Given the description of an element on the screen output the (x, y) to click on. 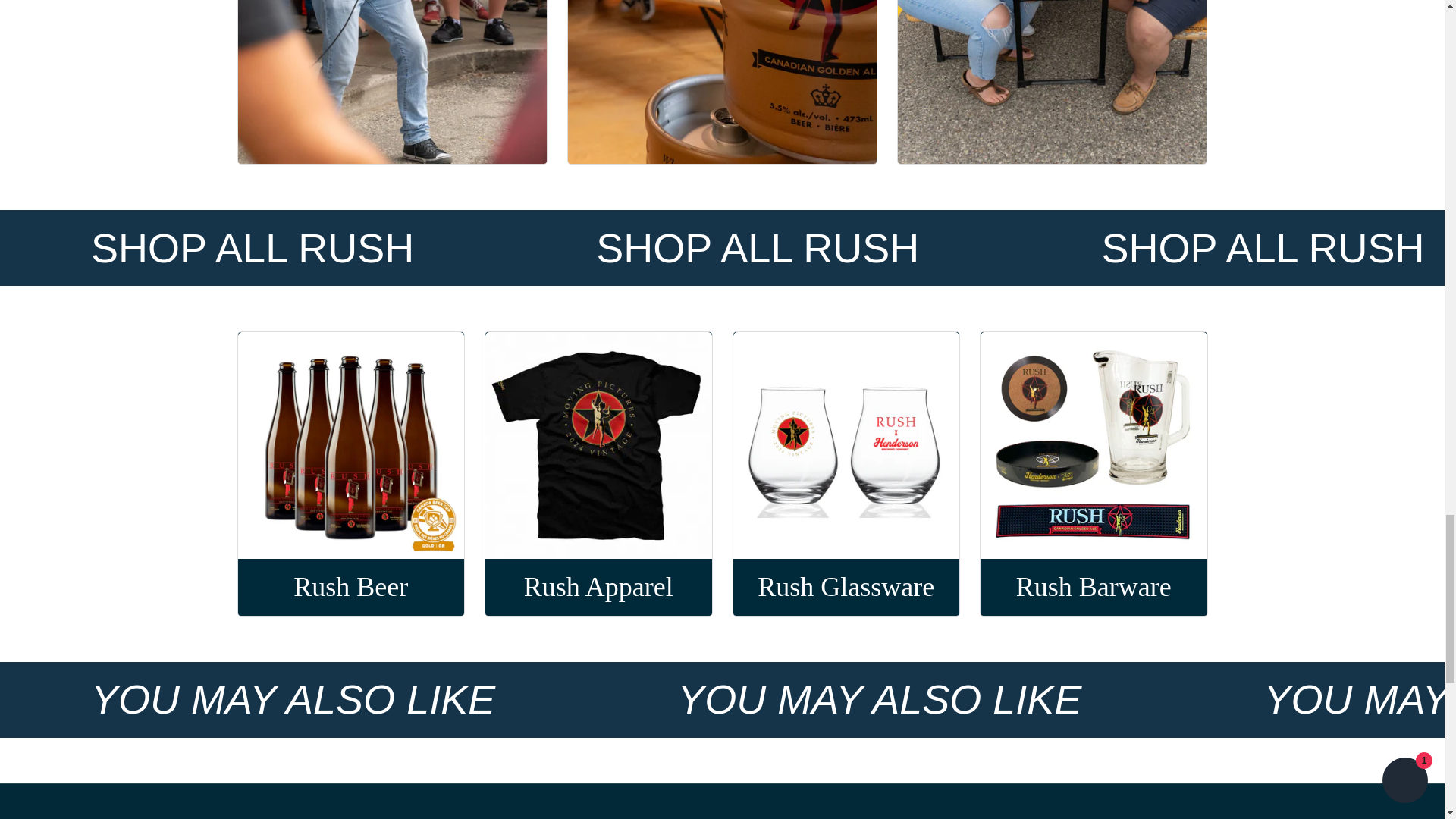
YOU MAY ALSO LIKE (879, 699)
SHOP ALL RUSH (252, 248)
YOU MAY ALSO LIKE (293, 699)
SHOP ALL RUSH (757, 248)
